Given the description of an element on the screen output the (x, y) to click on. 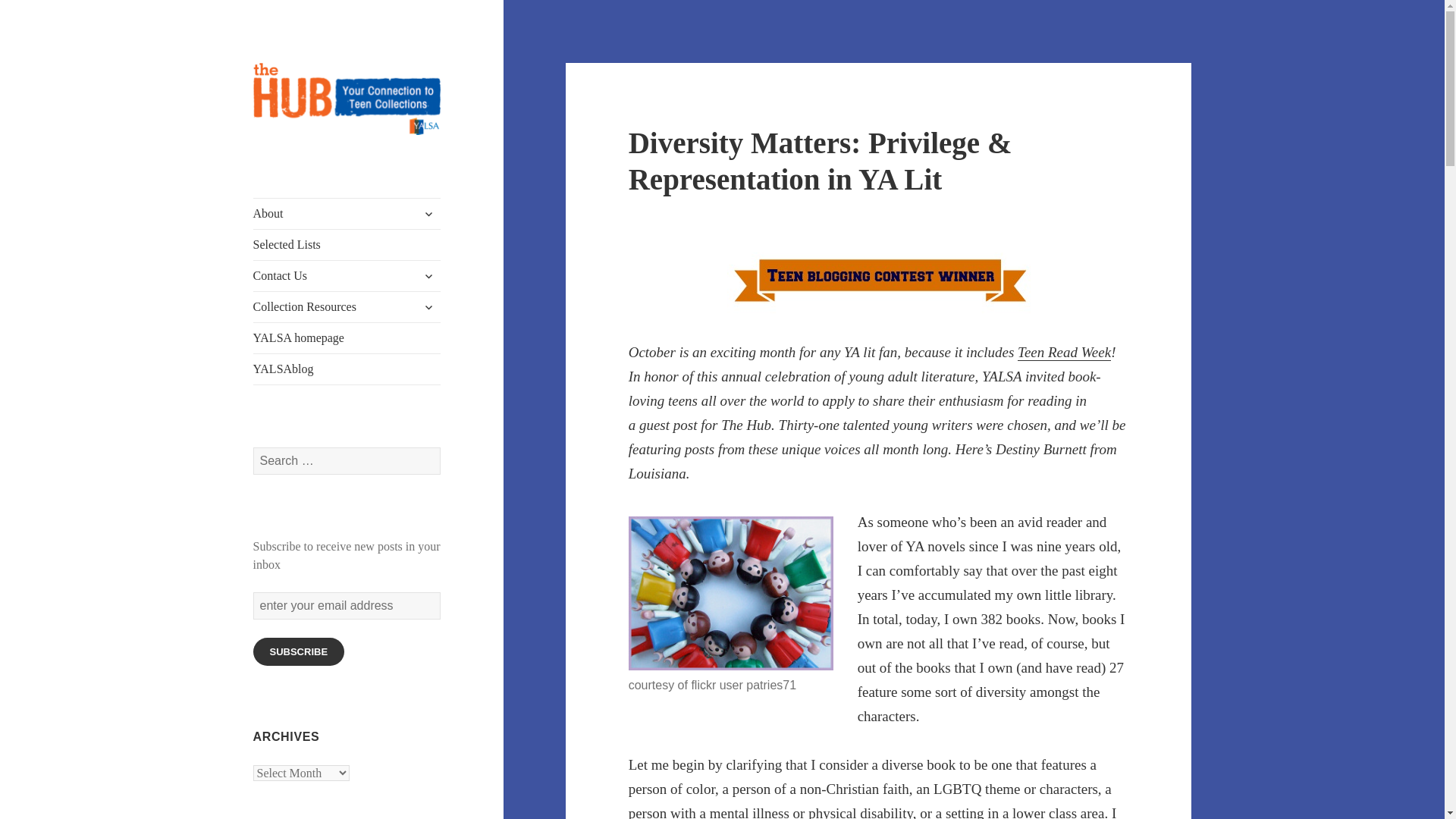
YALSA homepage (347, 337)
The Hub (293, 159)
Selected Lists (347, 245)
YALSAblog (347, 368)
expand child menu (428, 213)
Collection Resources (347, 306)
Teen Read Week (1063, 352)
